Given the description of an element on the screen output the (x, y) to click on. 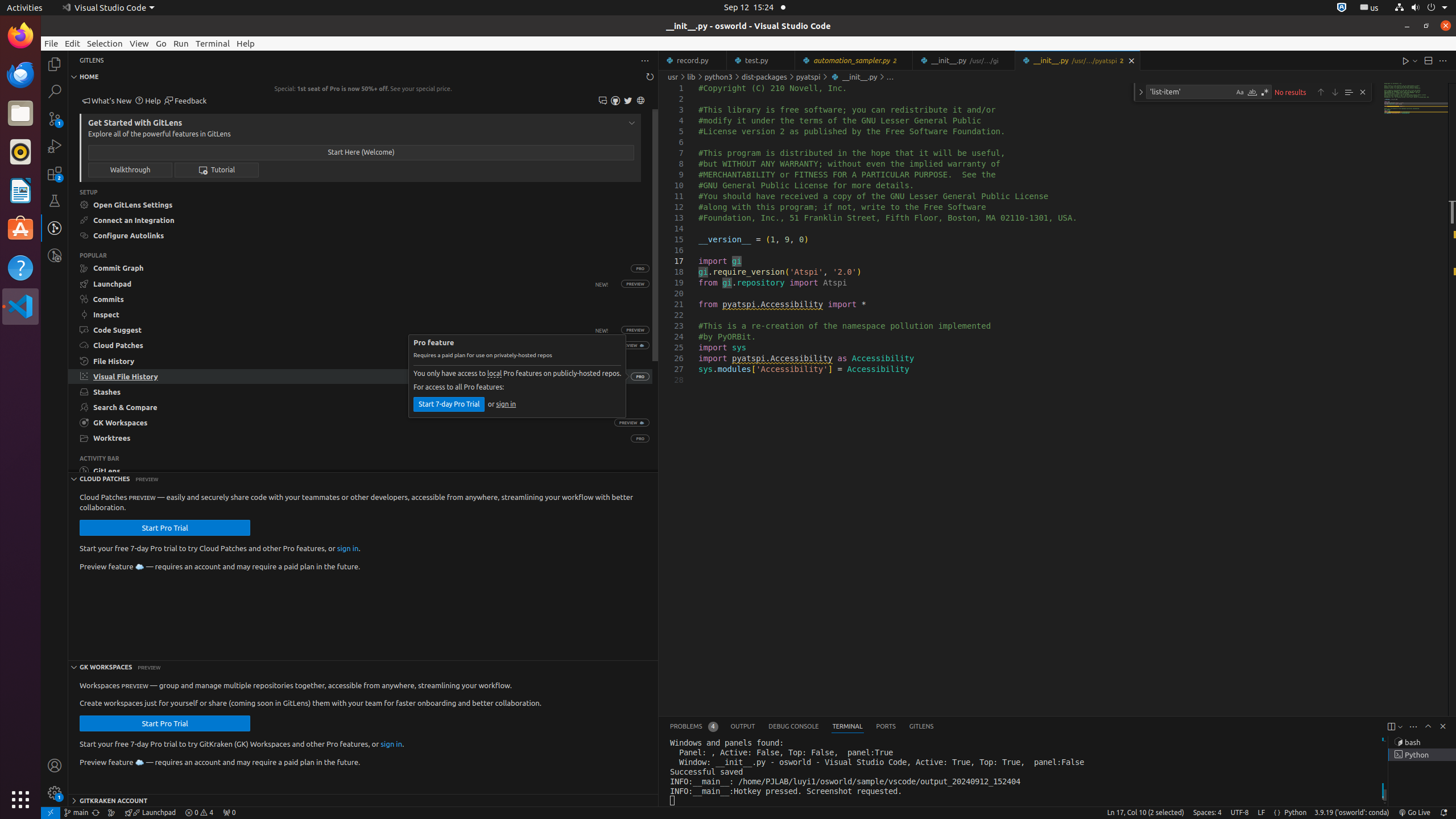
Views and More Actions... Element type: push-button (1413, 726)
Home Section Element type: push-button (363, 76)
Maximize Panel Size Element type: check-box (1427, 726)
